Given the description of an element on the screen output the (x, y) to click on. 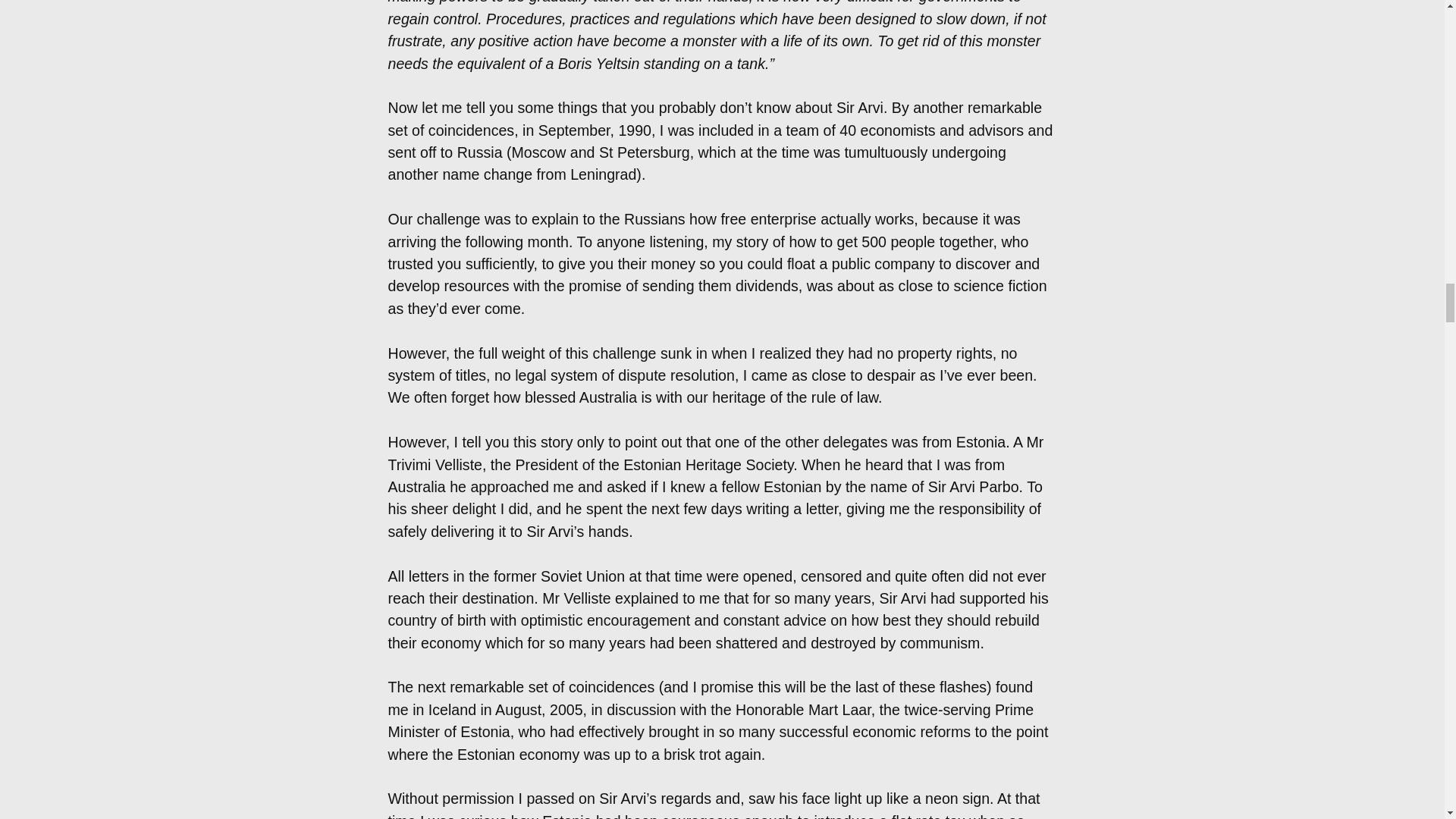
flat rate tax (928, 816)
Page 8 (722, 803)
